Given the description of an element on the screen output the (x, y) to click on. 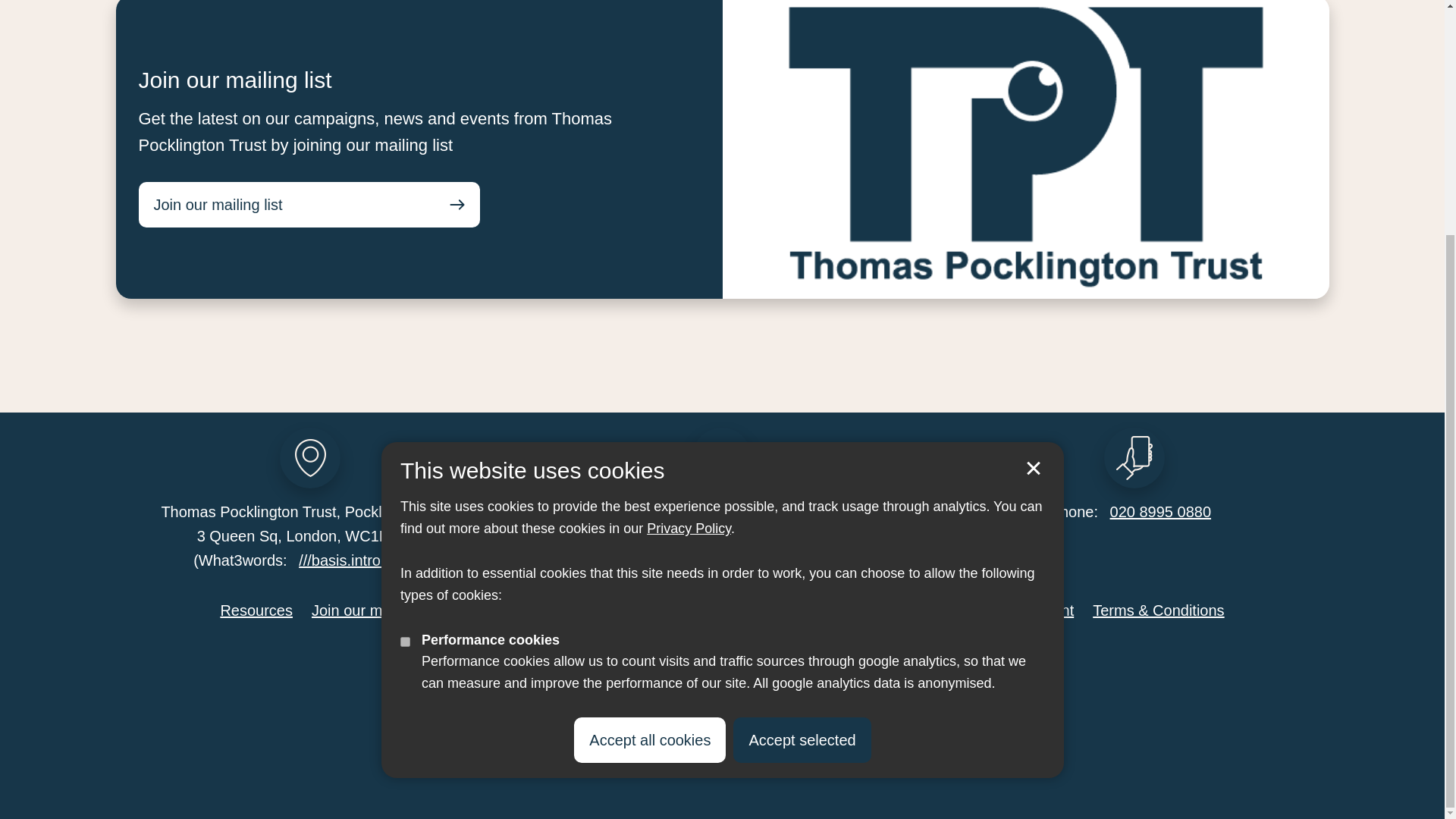
Accept selected (801, 420)
Follow us on LinkedIn (699, 657)
Accept all cookies (649, 420)
Follow us on Twitter (654, 657)
Follow us on Instagram (744, 657)
Follow us on Audioboom (835, 657)
Accept selected (1033, 149)
Like us on Facebook (608, 657)
Follow us on Youtube (790, 657)
stats (405, 322)
Privacy Policy (688, 209)
